Given the description of an element on the screen output the (x, y) to click on. 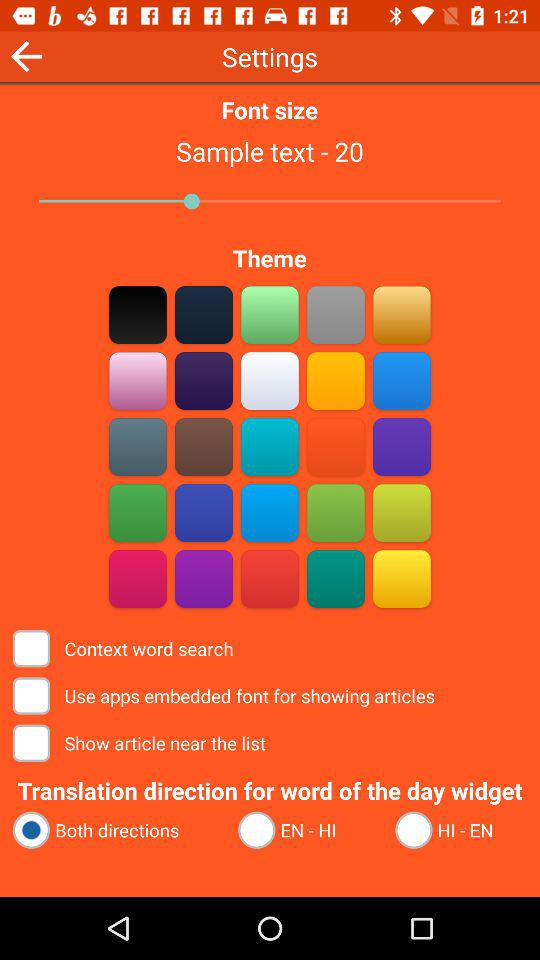
scroll until the both directions radio button (116, 829)
